Given the description of an element on the screen output the (x, y) to click on. 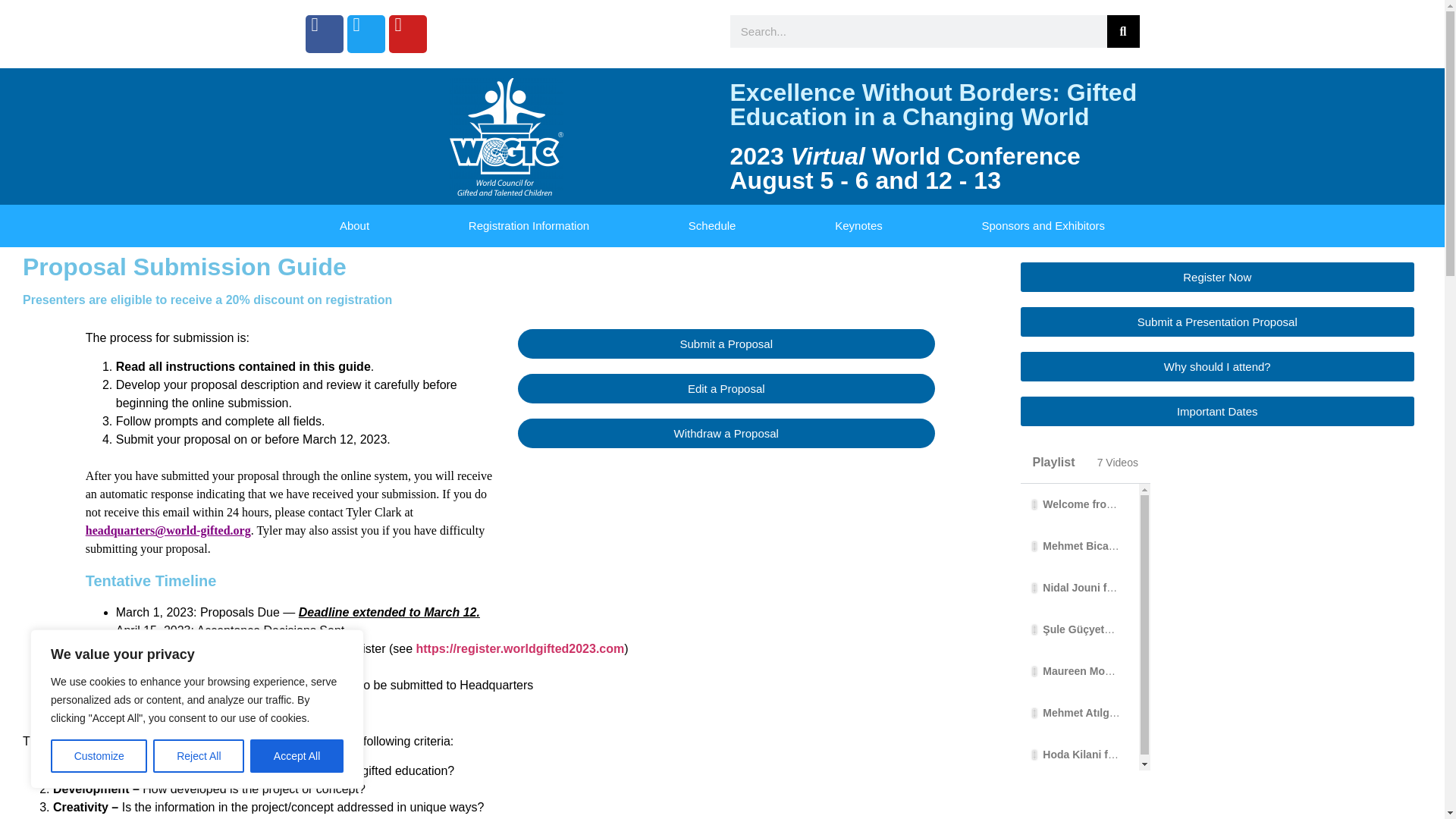
Registration Information (529, 225)
Customize (98, 756)
Sponsors and Exhibitors (1042, 225)
Keynotes (858, 225)
Schedule (711, 225)
About (354, 225)
Reject All (198, 756)
Accept All (296, 756)
